Given the description of an element on the screen output the (x, y) to click on. 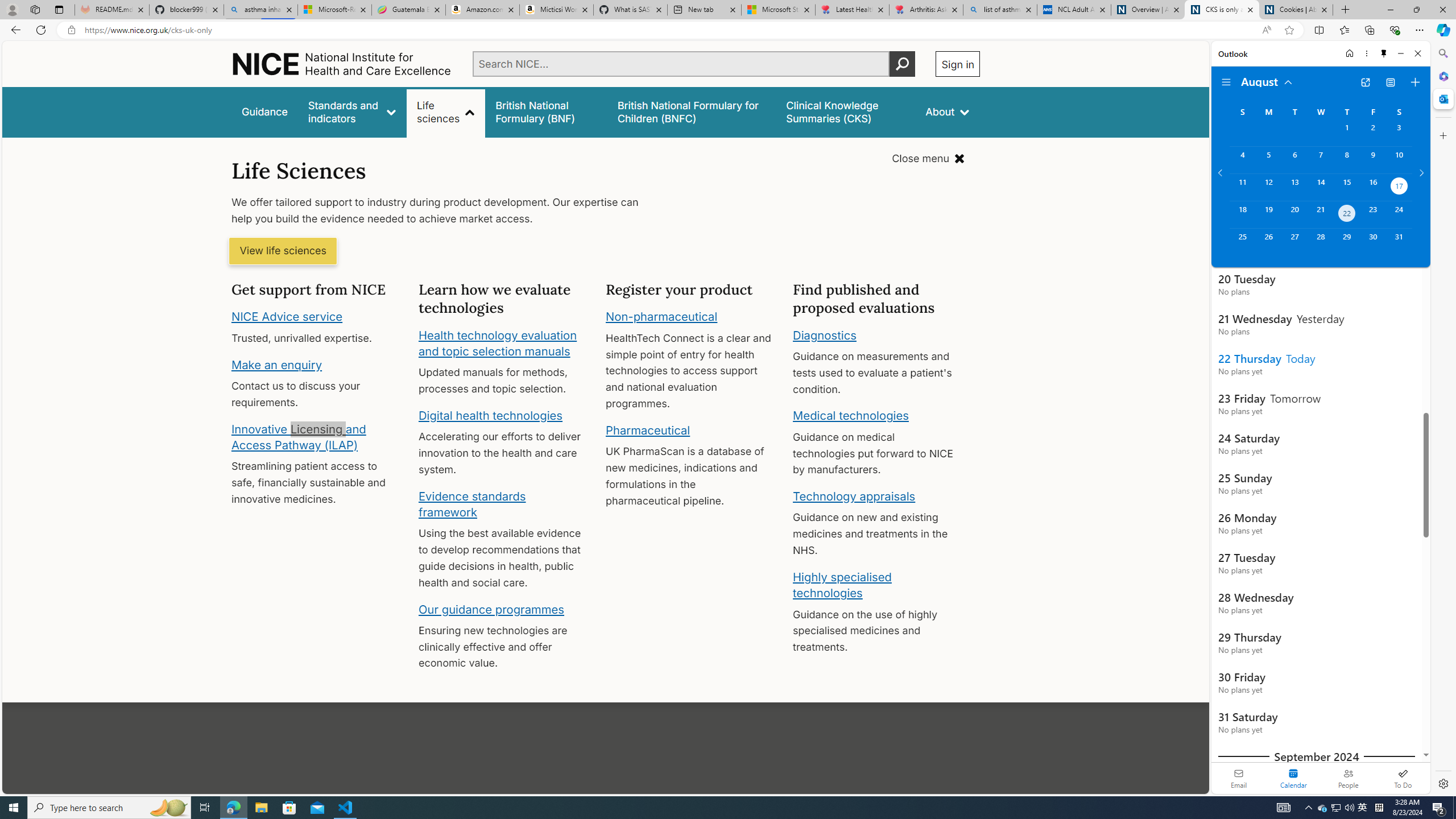
Technology appraisals (854, 495)
false (845, 111)
Monday, August 19, 2024.  (1268, 214)
Cookies | About | NICE (1295, 9)
Tuesday, August 6, 2024.  (1294, 159)
Digital health technologies (490, 414)
Sunday, August 25, 2024.  (1242, 241)
Our guidance programmes (490, 608)
